Given the description of an element on the screen output the (x, y) to click on. 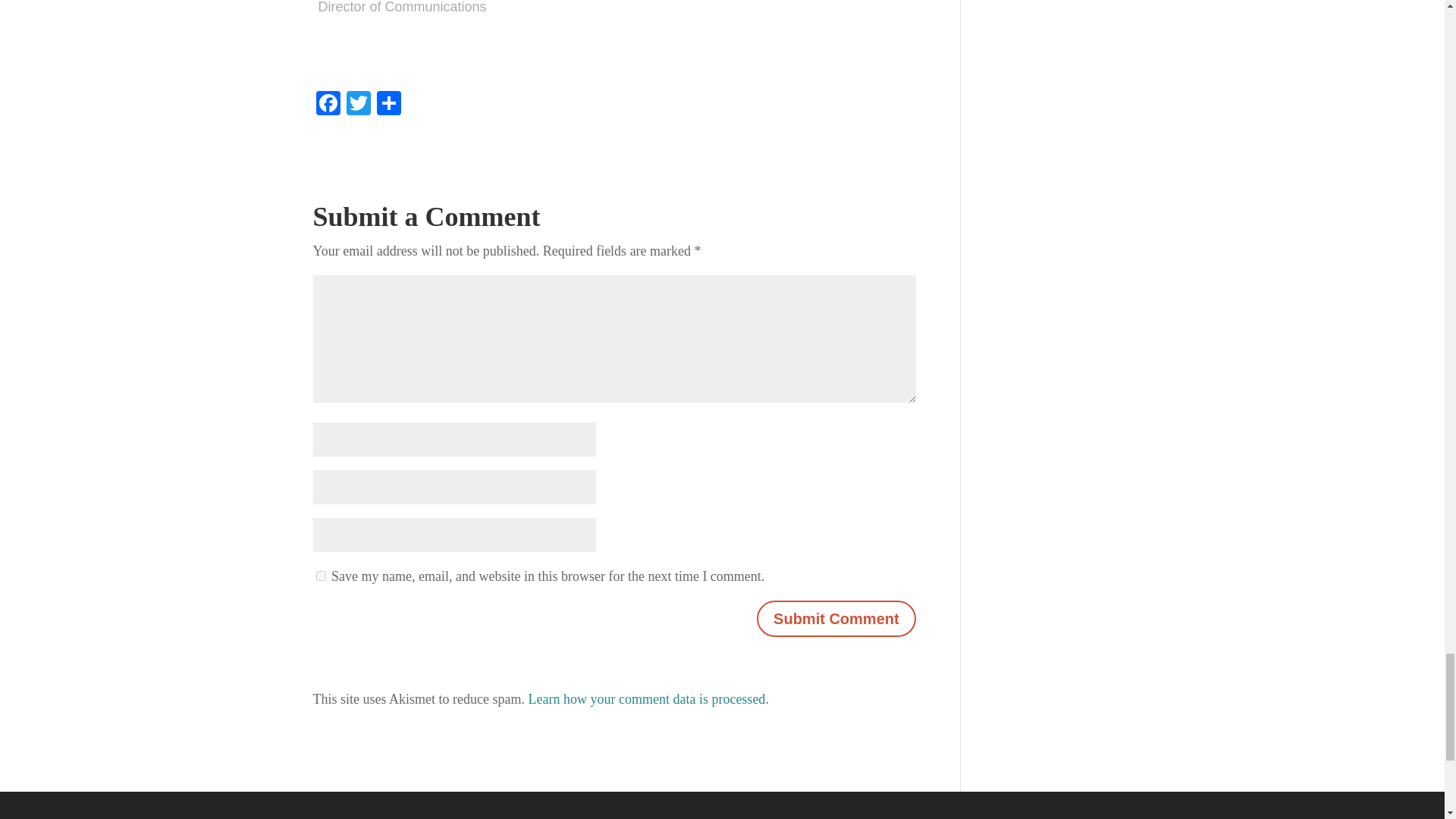
yes (319, 575)
Submit Comment (836, 618)
